Given the description of an element on the screen output the (x, y) to click on. 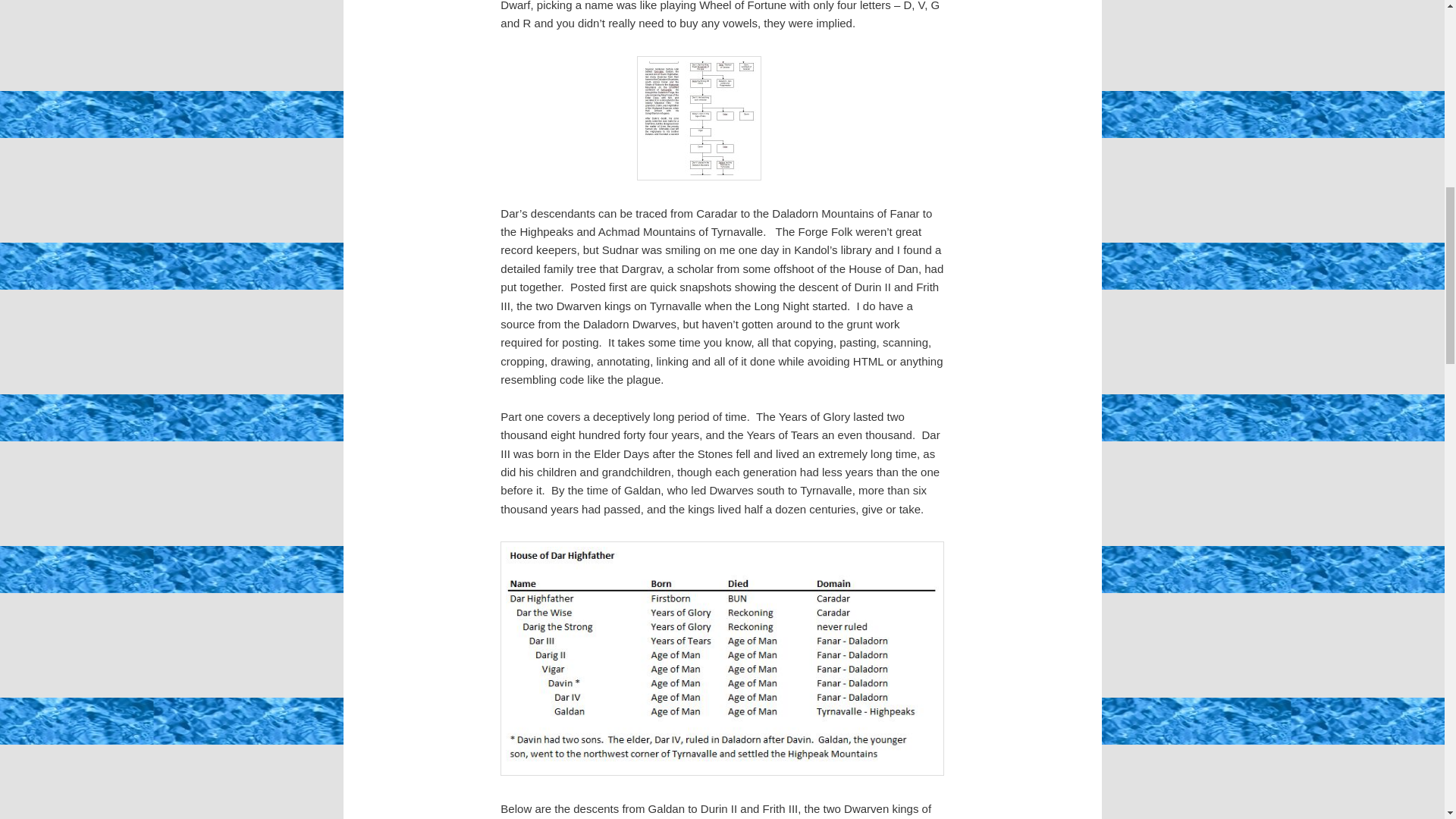
dwarf king snapshot 1 (721, 657)
dwarf geneology elder days thru hali (699, 118)
